Given the description of an element on the screen output the (x, y) to click on. 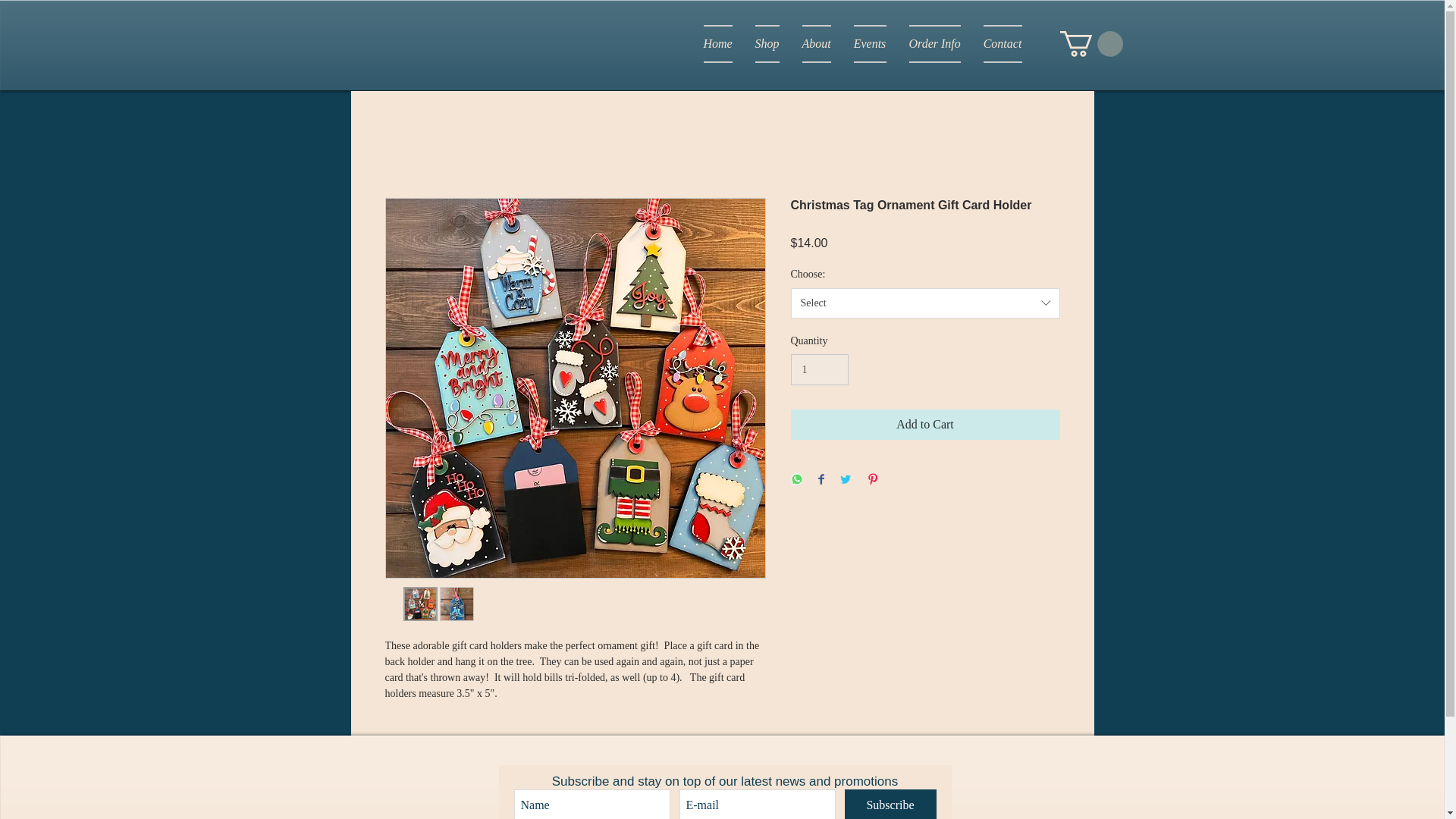
Select (924, 303)
Shop (766, 44)
Order Info (935, 44)
Events (868, 44)
Home (716, 44)
About (815, 44)
1 (818, 368)
Subscribe (890, 804)
Add to Cart (924, 424)
Contact (997, 44)
